Given the description of an element on the screen output the (x, y) to click on. 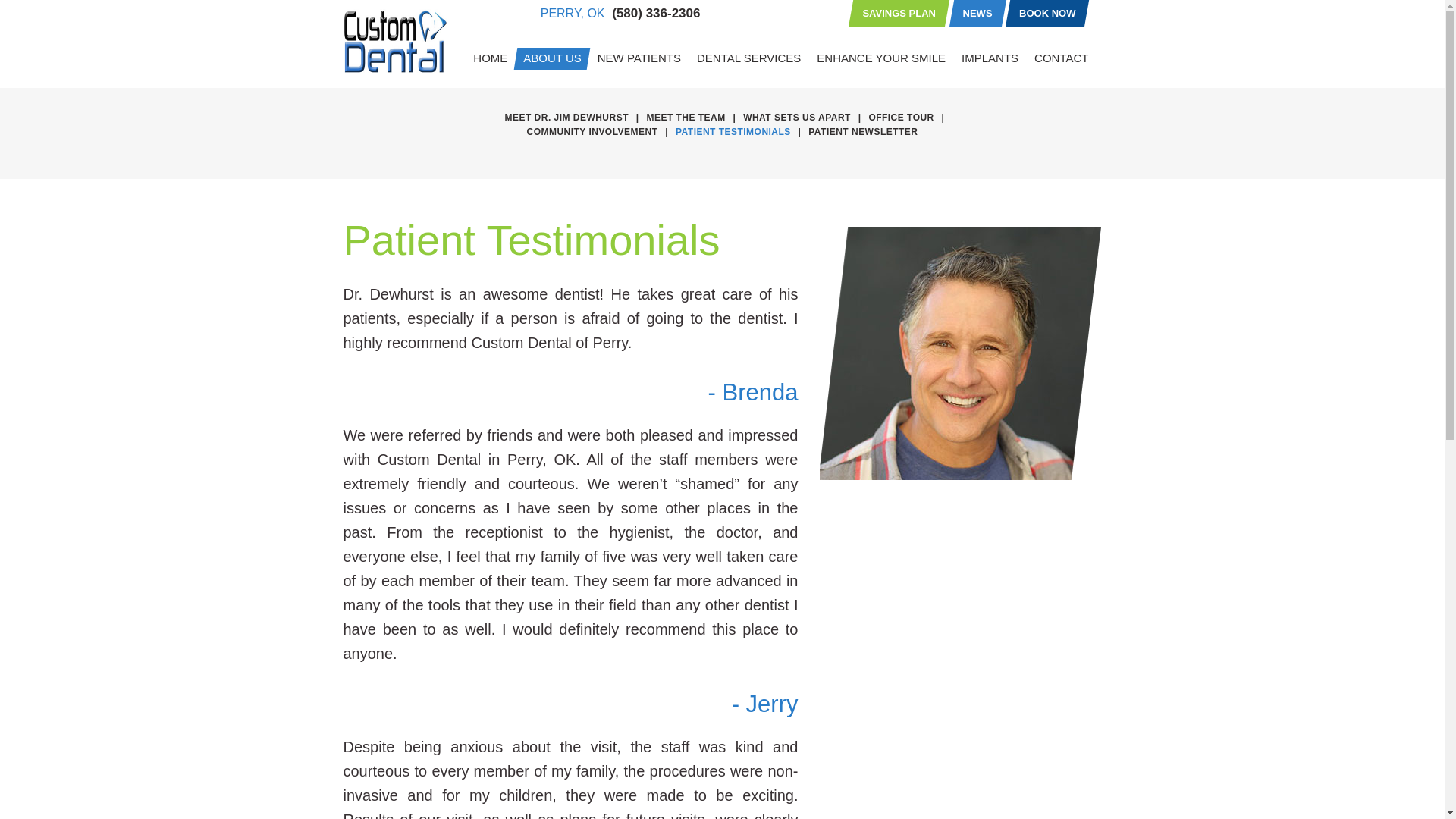
SAVINGS PLAN (898, 13)
NEW PATIENTS (638, 58)
ABOUT US (551, 58)
ENHANCE YOUR SMILE (881, 58)
CONTACT (1061, 58)
IMPLANTS (989, 58)
DENTAL SERVICES (748, 58)
HOME (490, 58)
PERRY, OK (572, 13)
